Given the description of an element on the screen output the (x, y) to click on. 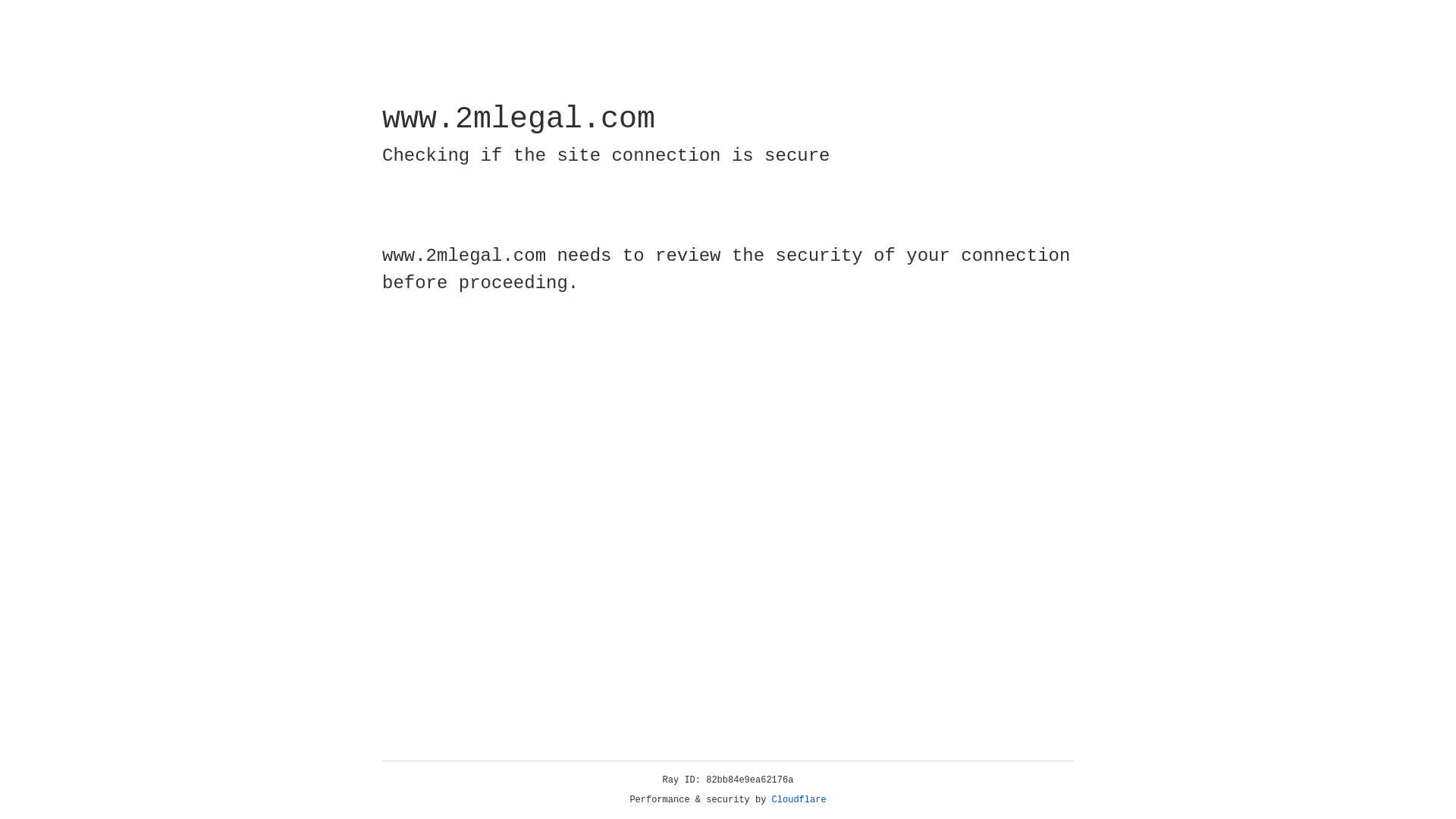
Cloudflare Element type: text (798, 799)
